Given the description of an element on the screen output the (x, y) to click on. 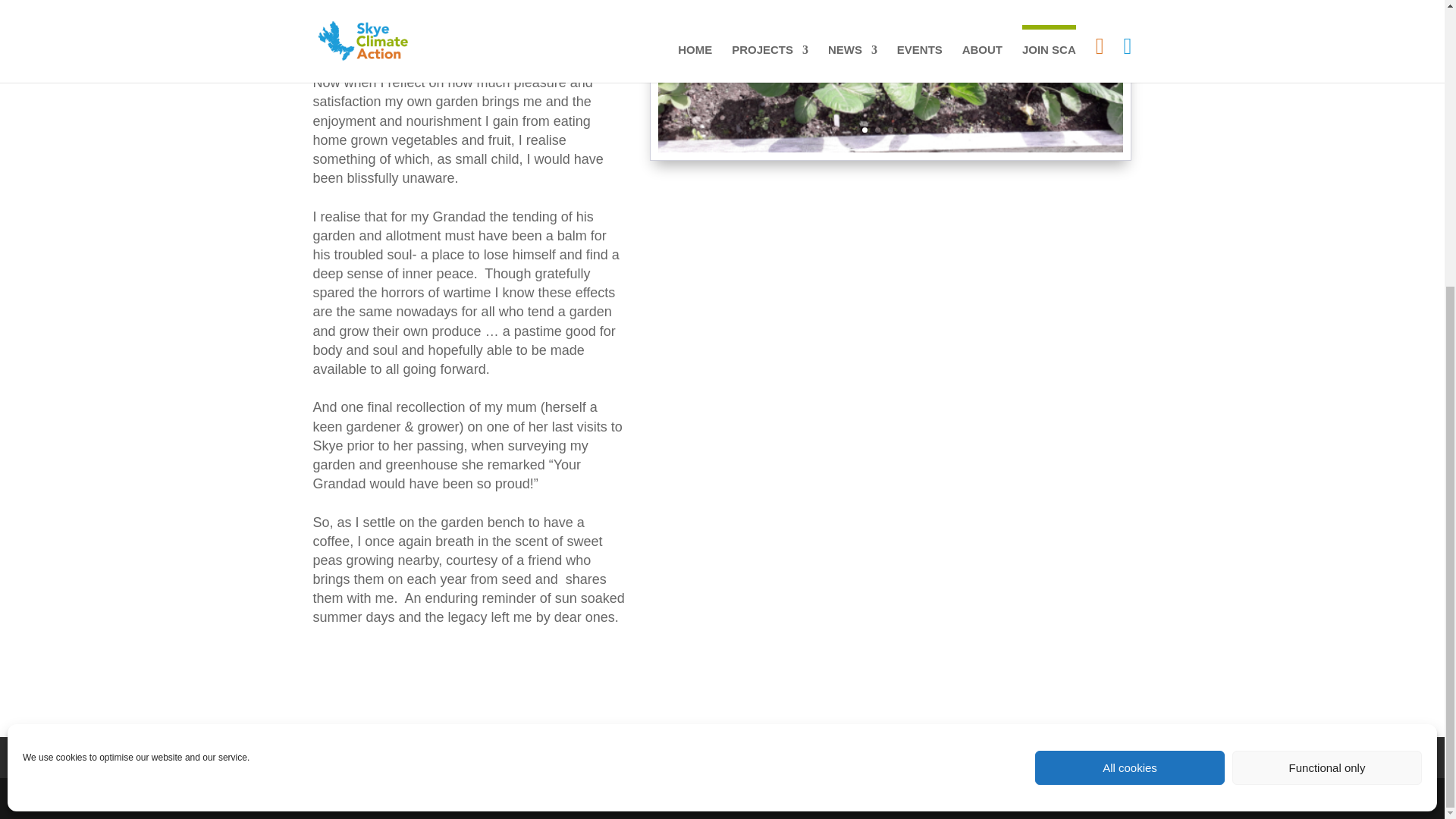
Pat's brassica plantlets in a raised bed (890, 152)
All cookies (1129, 334)
Functional only (1326, 334)
